Given the description of an element on the screen output the (x, y) to click on. 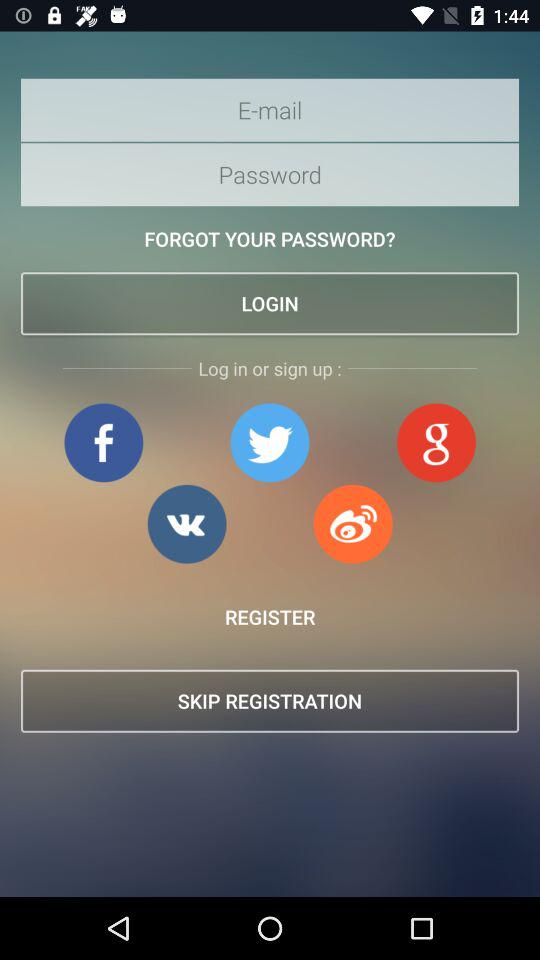
press the forgot your password? item (270, 238)
